Given the description of an element on the screen output the (x, y) to click on. 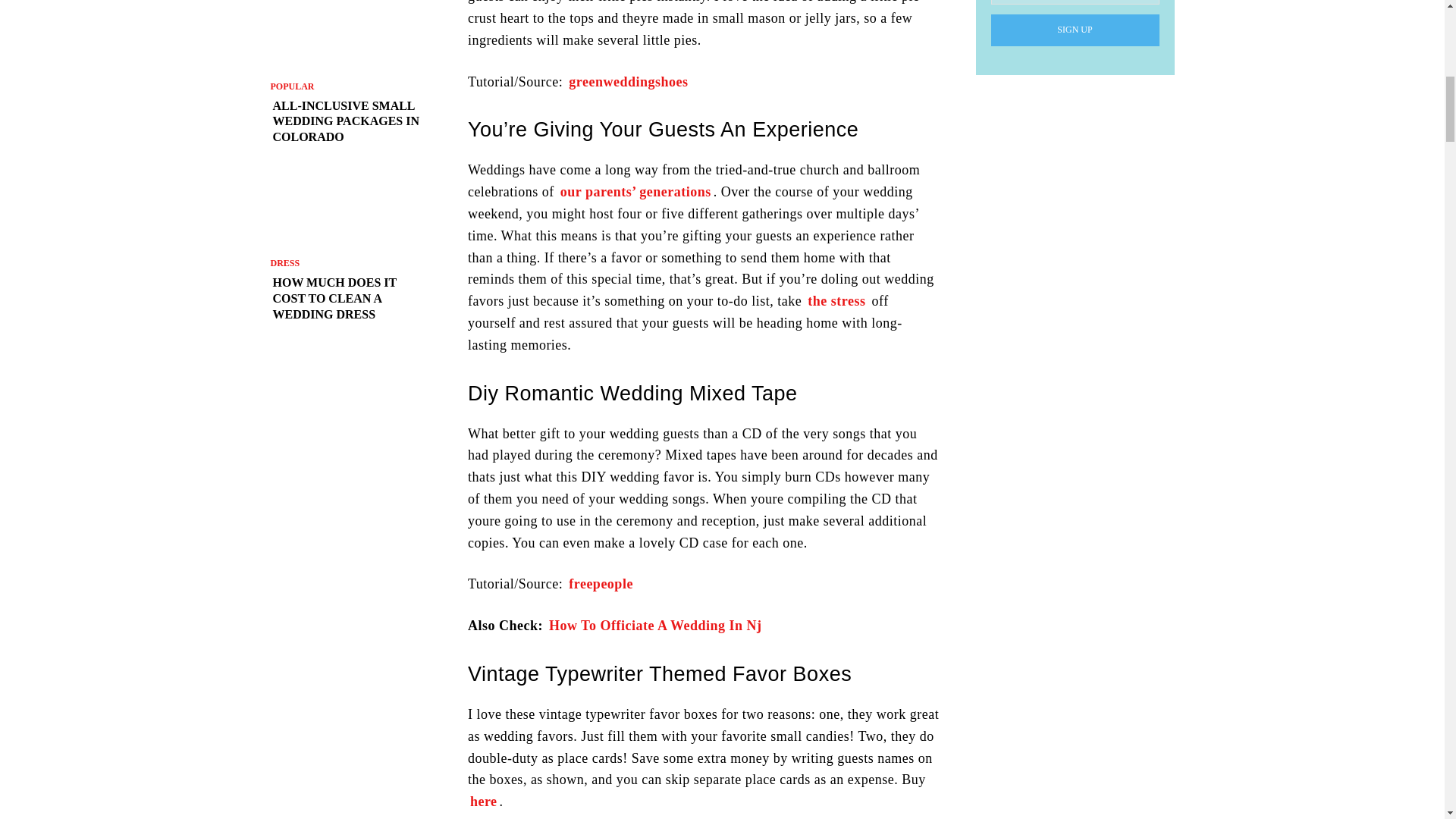
All-inclusive Small Wedding Packages In Colorado (349, 35)
How Much Does It Cost To Clean A Wedding Dress (349, 298)
All-inclusive Small Wedding Packages In Colorado (349, 121)
How Much Does It Cost To Clean A Wedding Dress (349, 208)
